Given the description of an element on the screen output the (x, y) to click on. 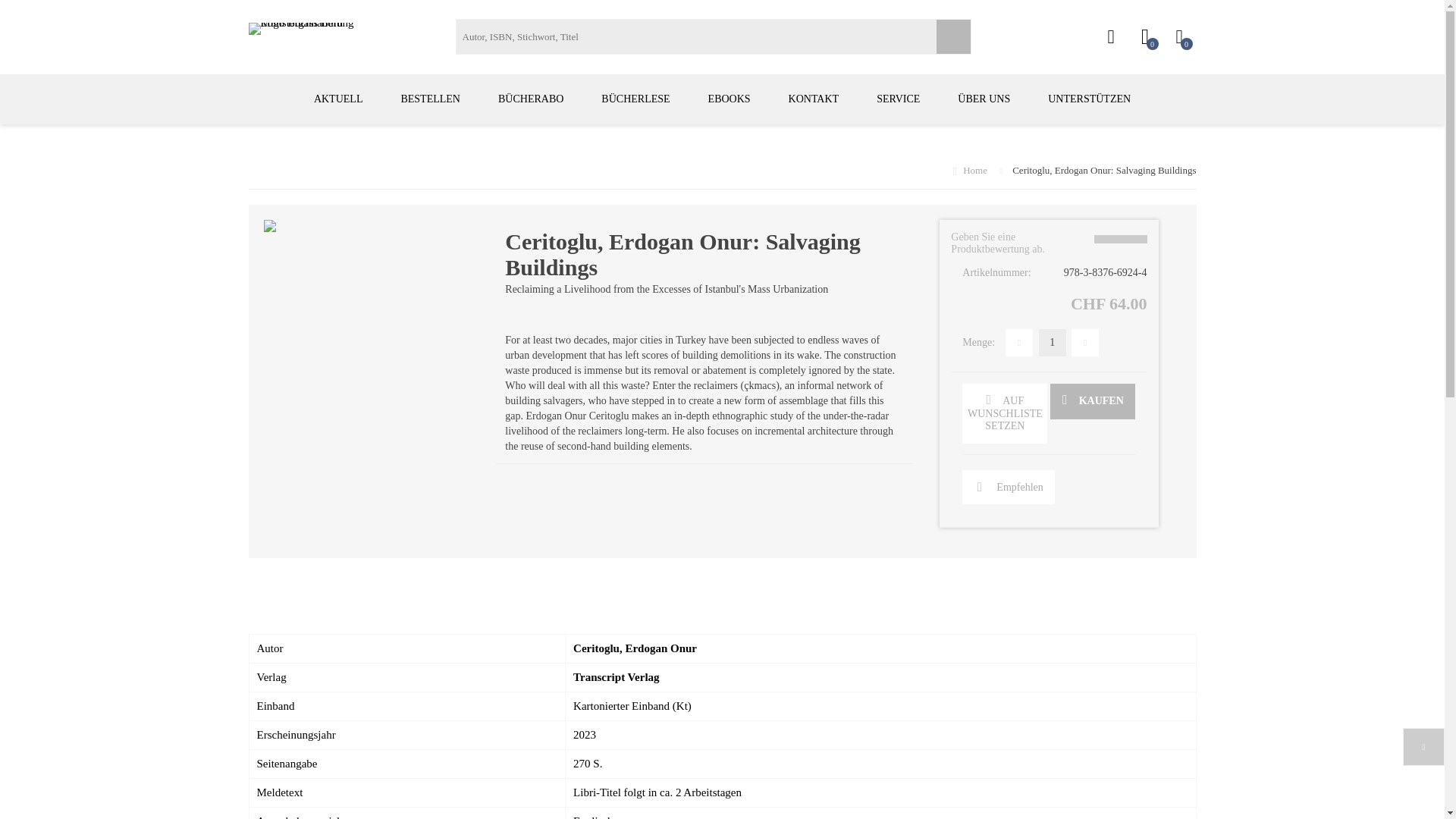
BESTELLEN (430, 99)
EBOOKS (729, 99)
Suchen (952, 36)
Suchen (952, 36)
SERVICE (898, 99)
Warenkorb (1178, 37)
Suchen (952, 36)
Kontakt (814, 99)
Aktuell (338, 99)
Service (898, 99)
